Given the description of an element on the screen output the (x, y) to click on. 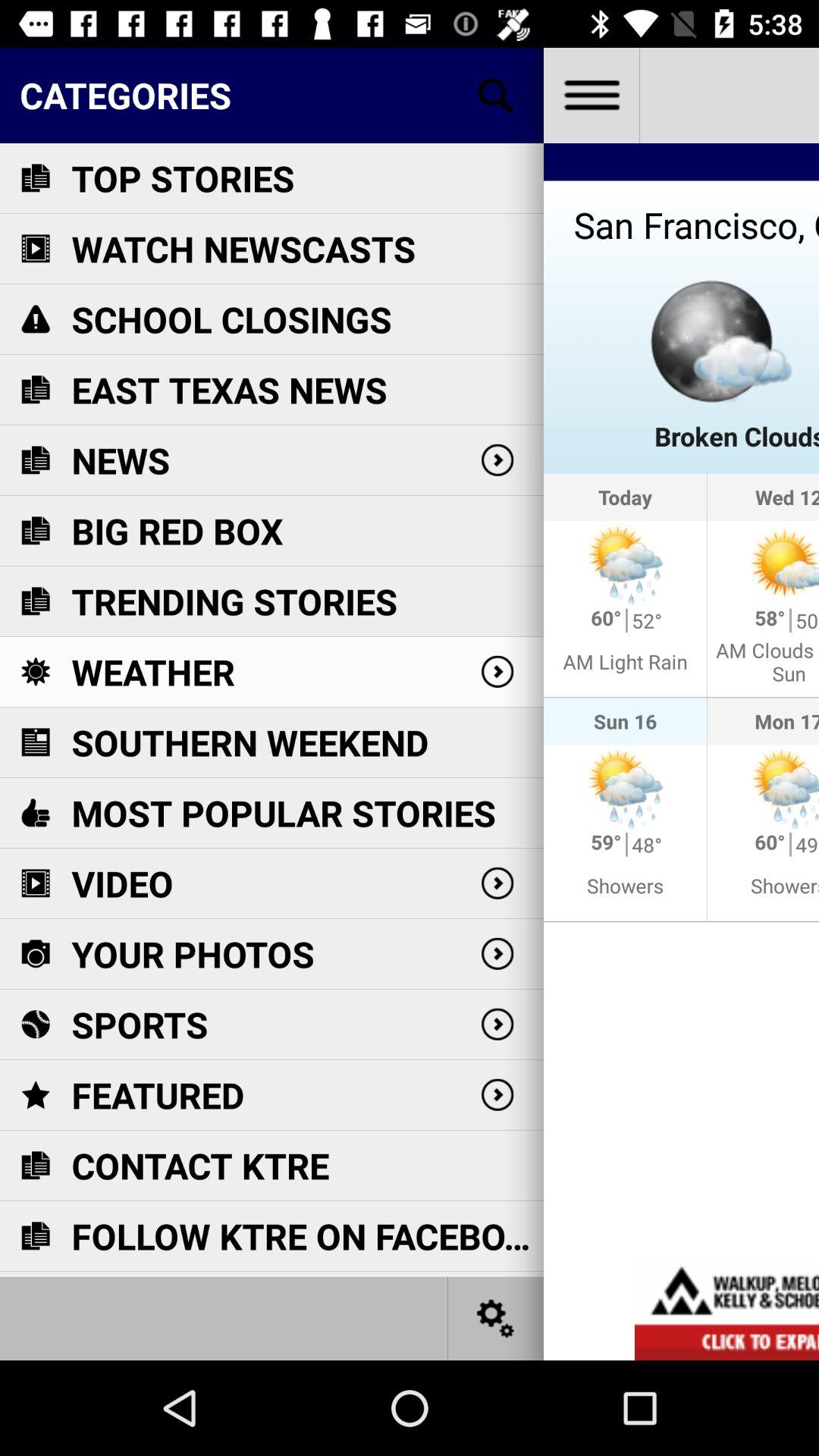
search box (495, 95)
